Given the description of an element on the screen output the (x, y) to click on. 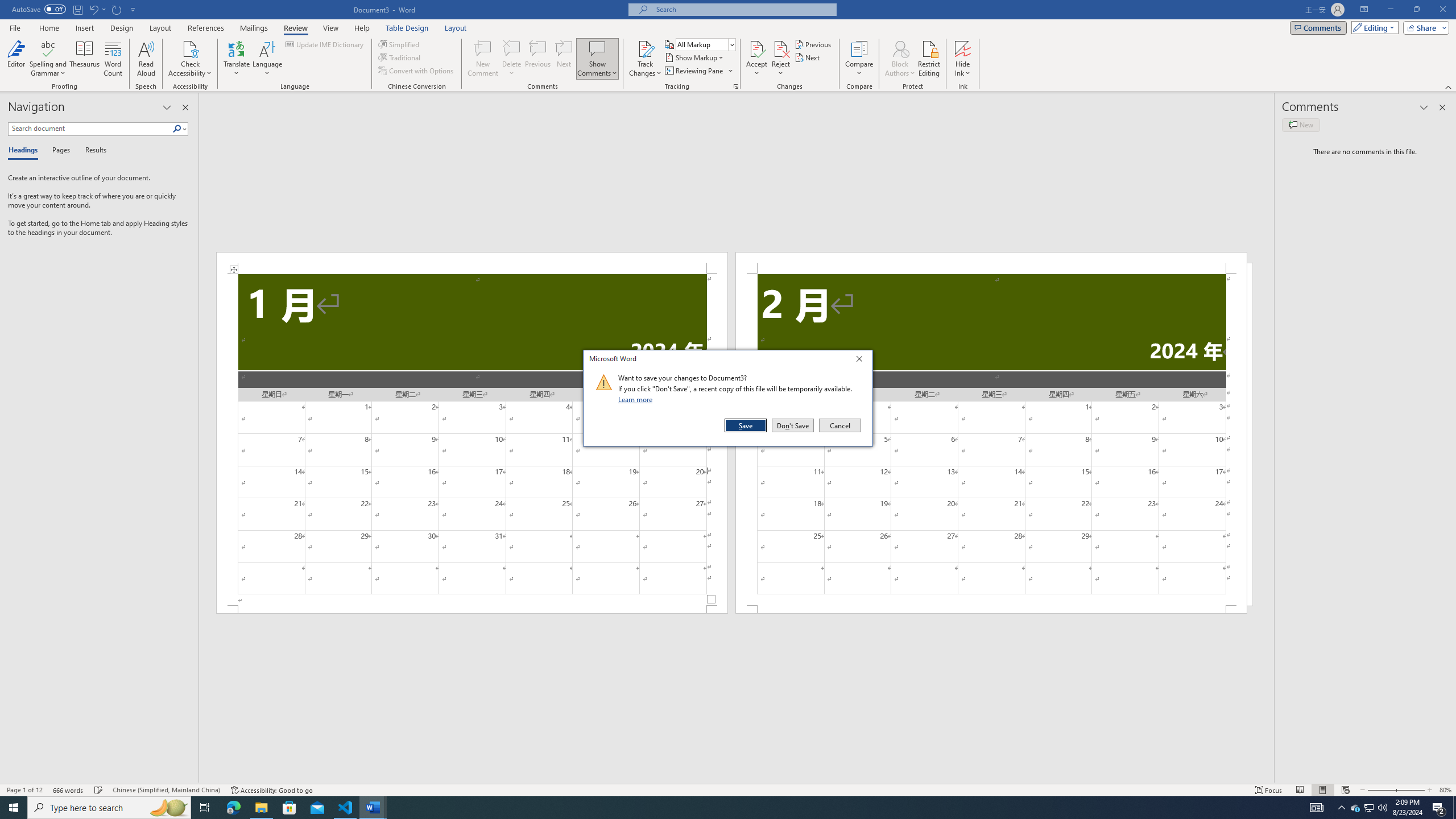
AutomationID: 4105 (1316, 807)
Delete (511, 48)
Undo Increase Indent (96, 9)
Translate (236, 58)
Reject (780, 58)
Check Accessibility (189, 48)
